Given the description of an element on the screen output the (x, y) to click on. 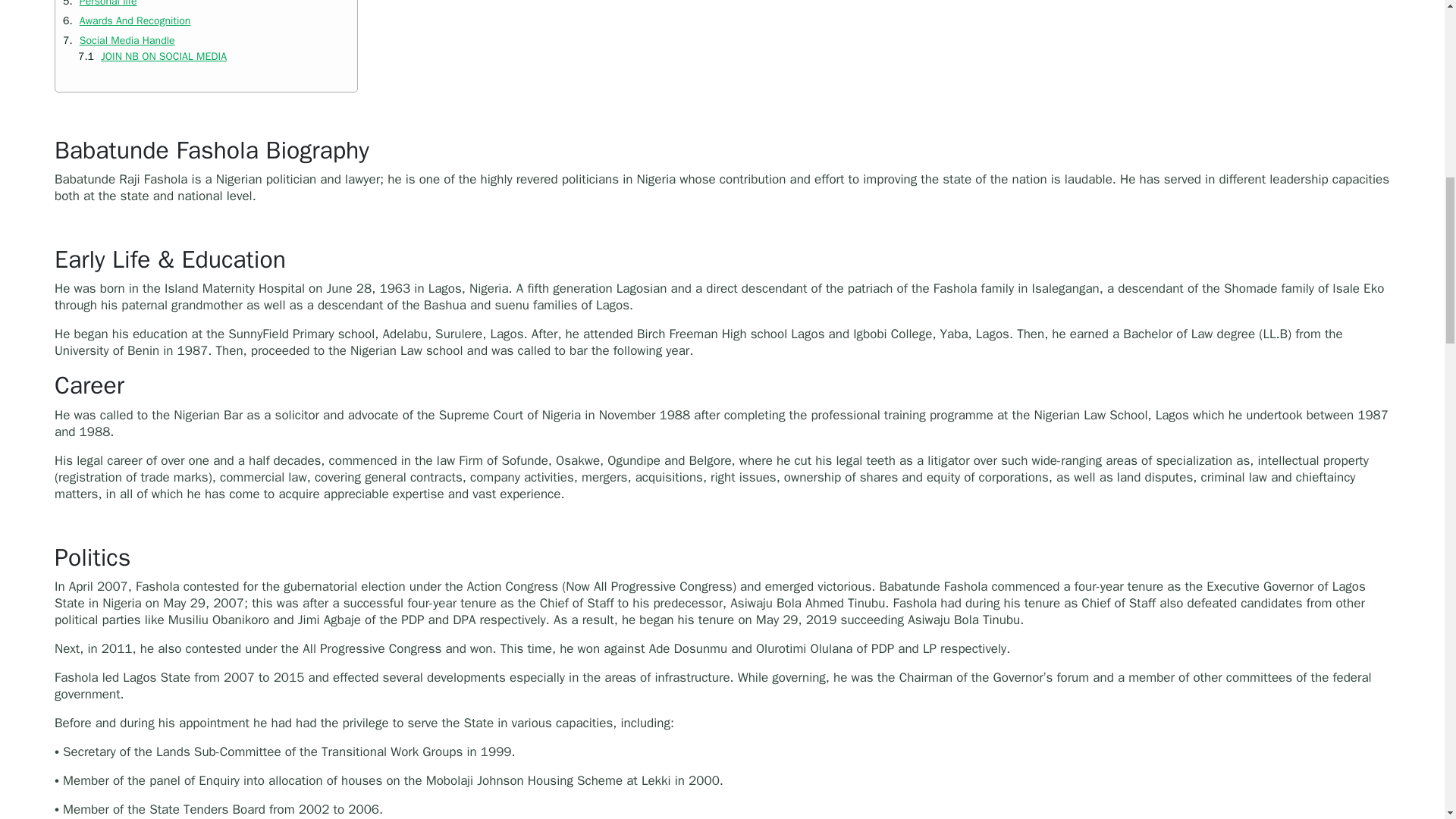
JOIN NB ON SOCIAL MEDIA (162, 56)
Personal life (105, 3)
Awards And Recognition (132, 20)
Social Media Handle (124, 40)
